Given the description of an element on the screen output the (x, y) to click on. 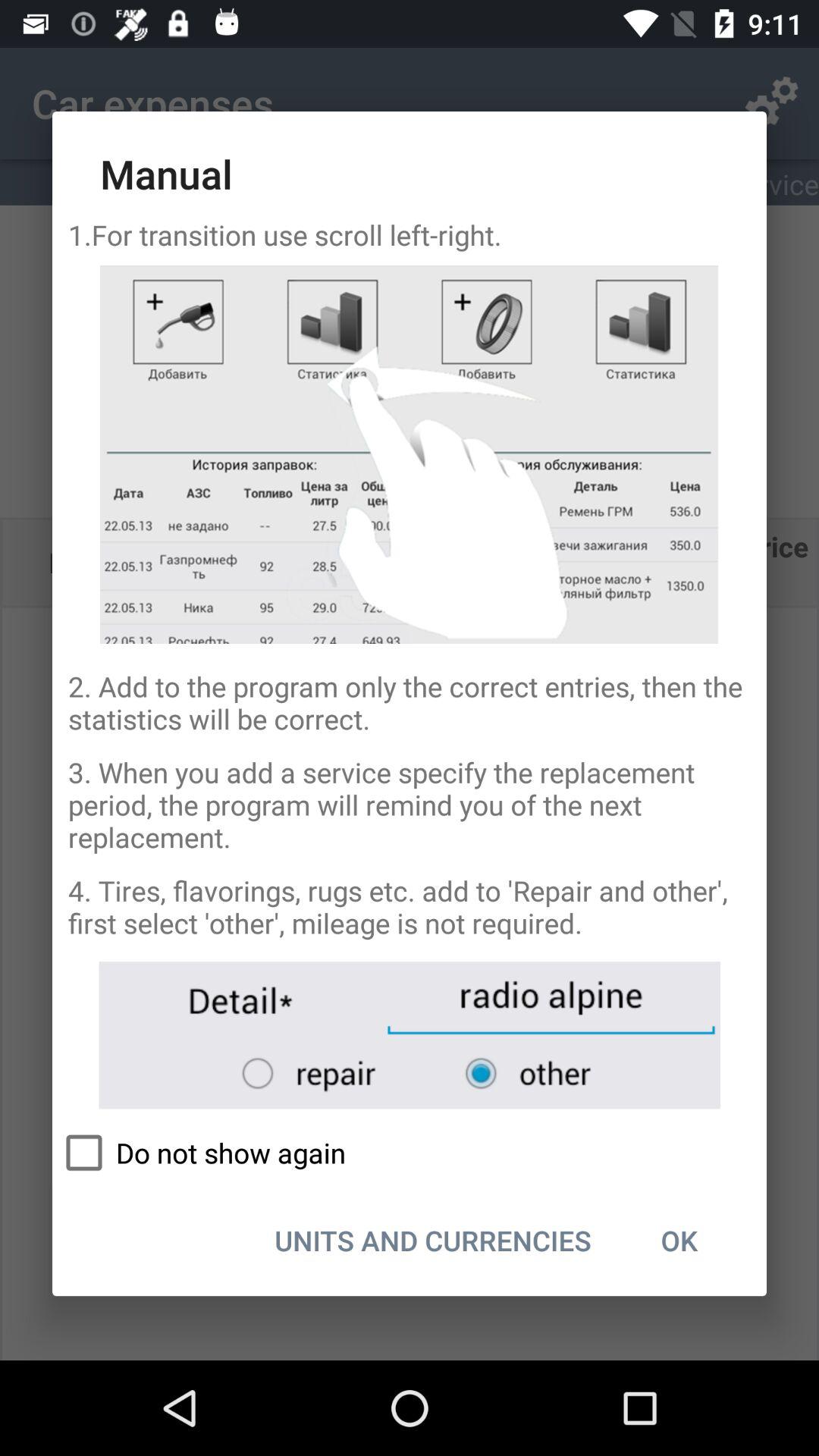
turn off the item next to the units and currencies (678, 1240)
